Given the description of an element on the screen output the (x, y) to click on. 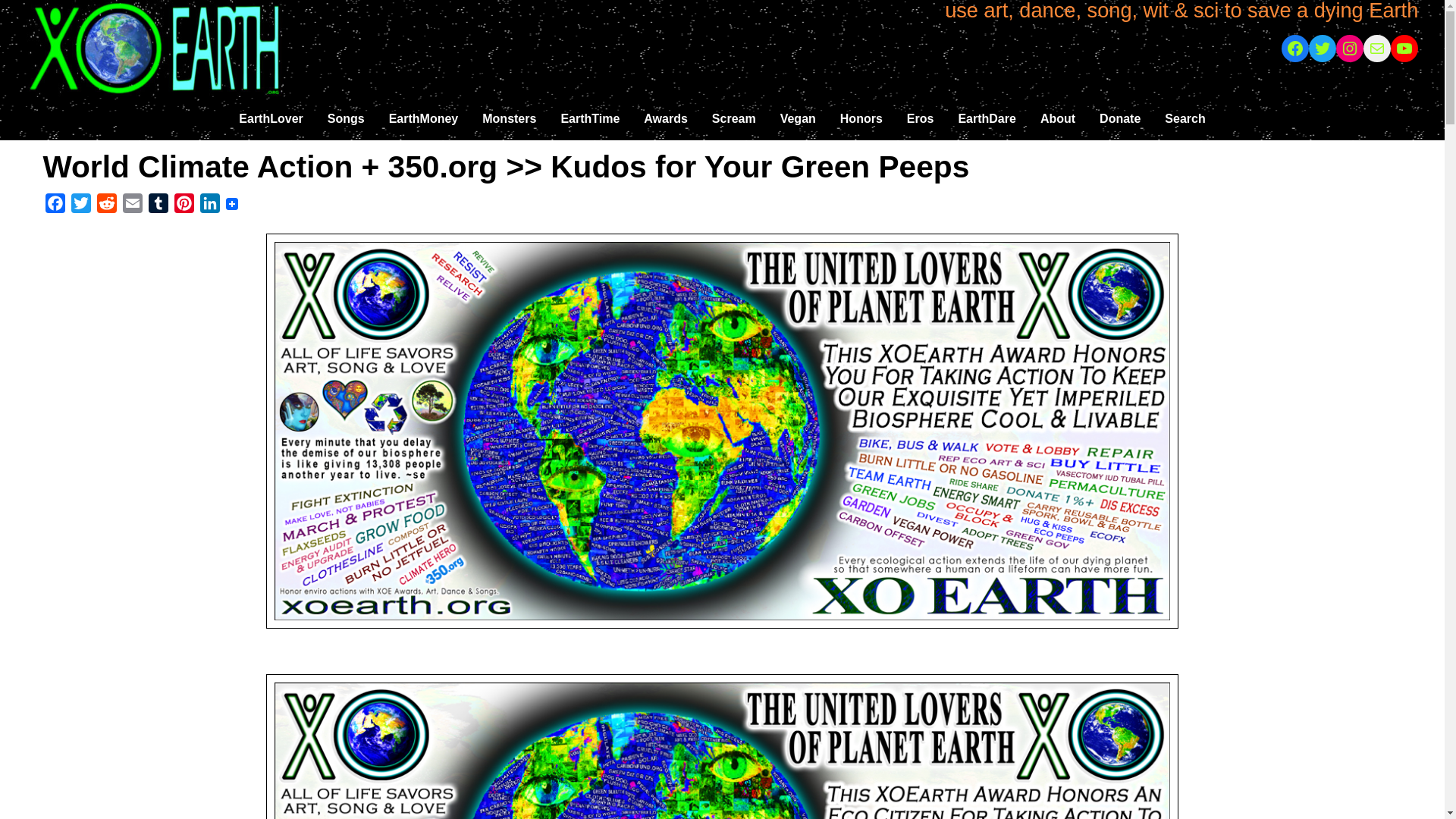
LinkedIn (209, 206)
YouTube (1404, 48)
Eros (920, 118)
Search (1185, 118)
Monsters (509, 118)
Email (132, 206)
Pinterest (183, 206)
Tumblr (158, 206)
Awards (665, 118)
Pinterest (183, 206)
Twitter (81, 206)
EarthDare (985, 118)
Email (132, 206)
Honors (861, 118)
